Given the description of an element on the screen output the (x, y) to click on. 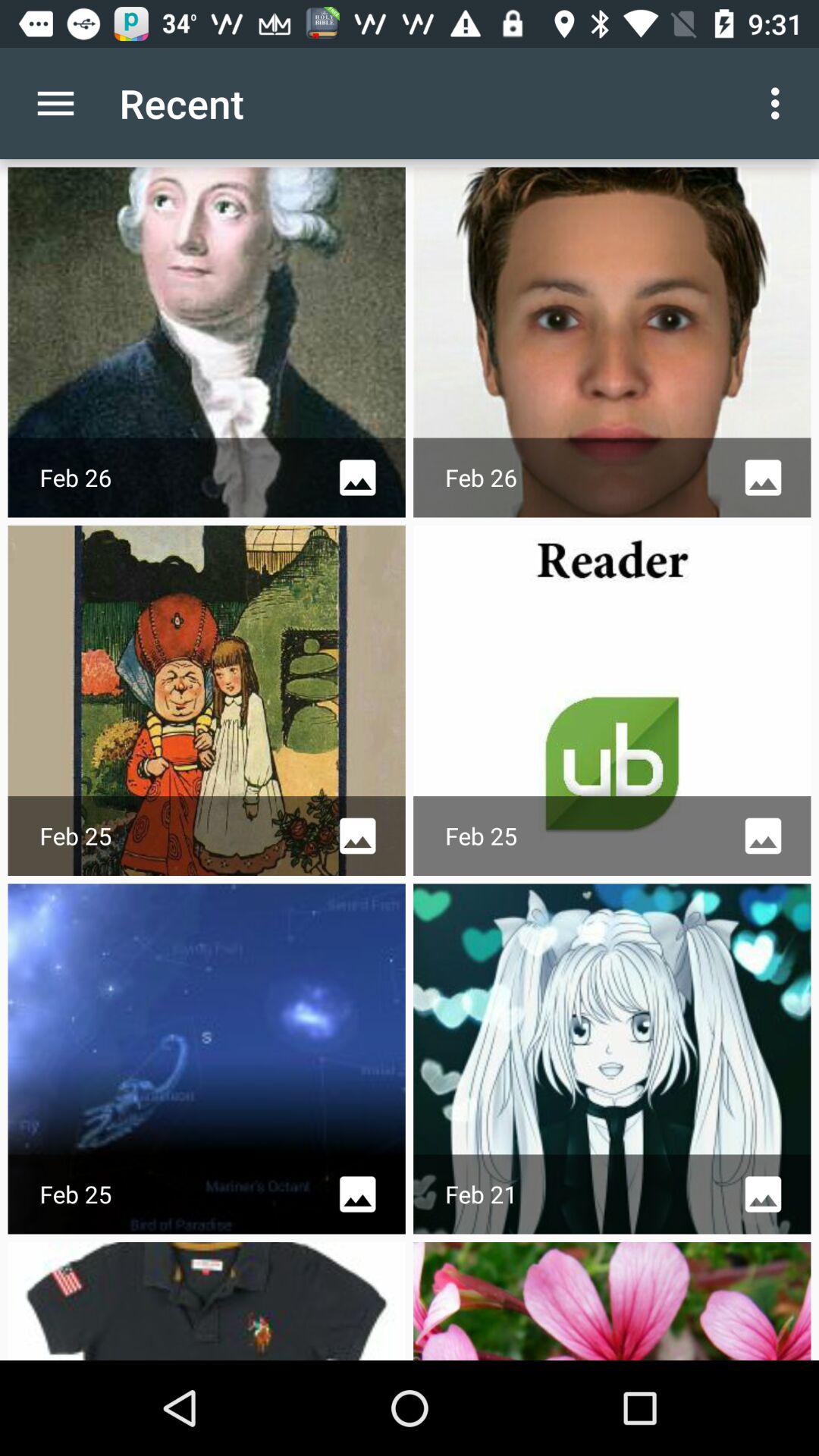
tap icon to the left of recent item (55, 103)
